Given the description of an element on the screen output the (x, y) to click on. 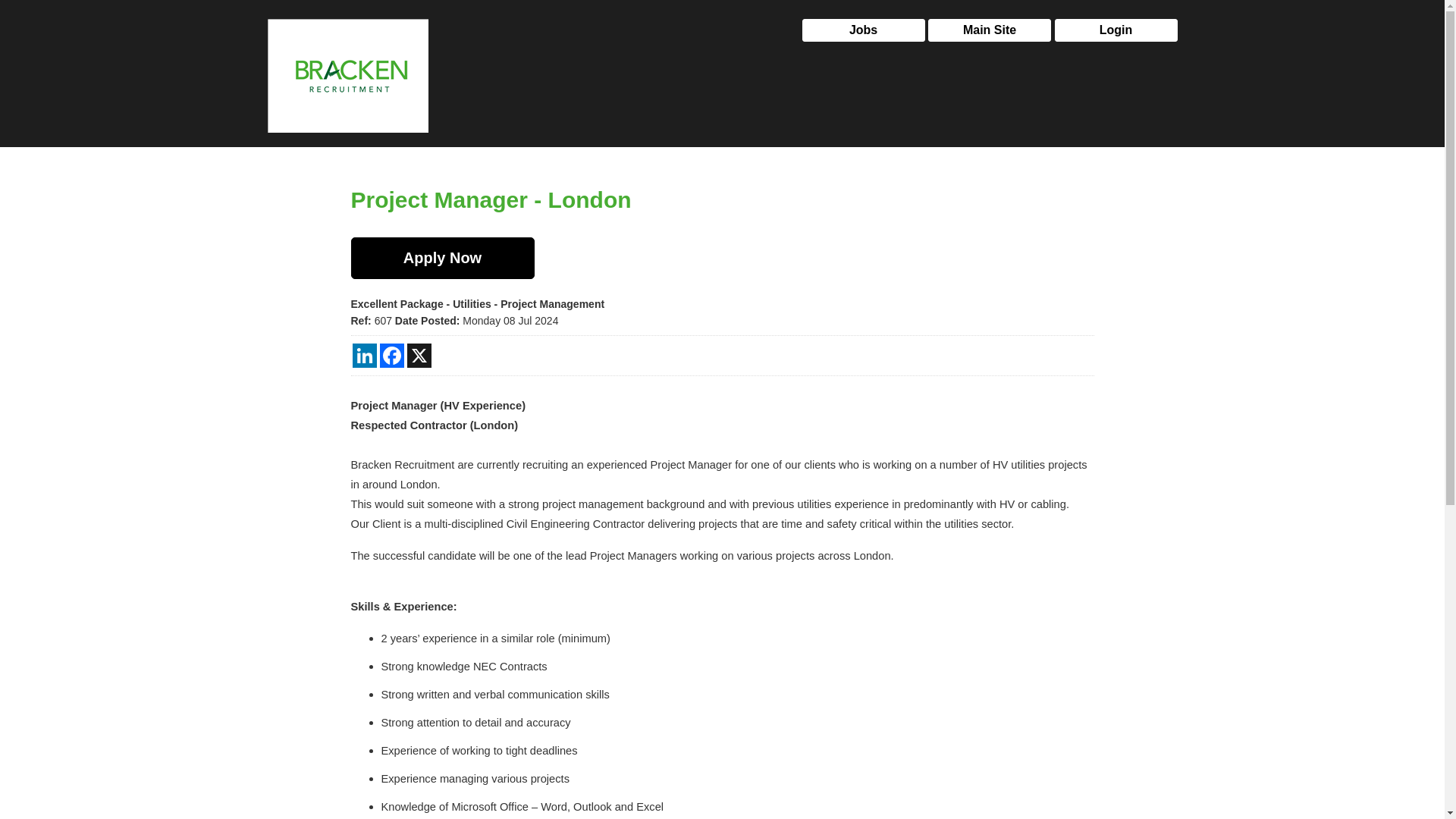
Login (1115, 29)
Main Site (989, 29)
Facebook (390, 355)
Apply Now (442, 258)
LinkedIn (363, 355)
Jobs (863, 29)
X (418, 355)
